Given the description of an element on the screen output the (x, y) to click on. 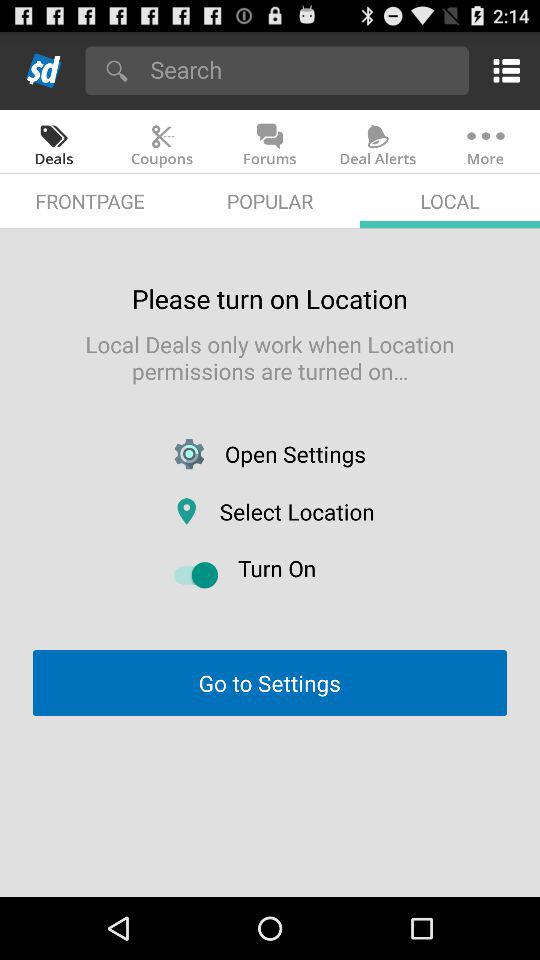
select the item next to the frontpage icon (270, 200)
